Given the description of an element on the screen output the (x, y) to click on. 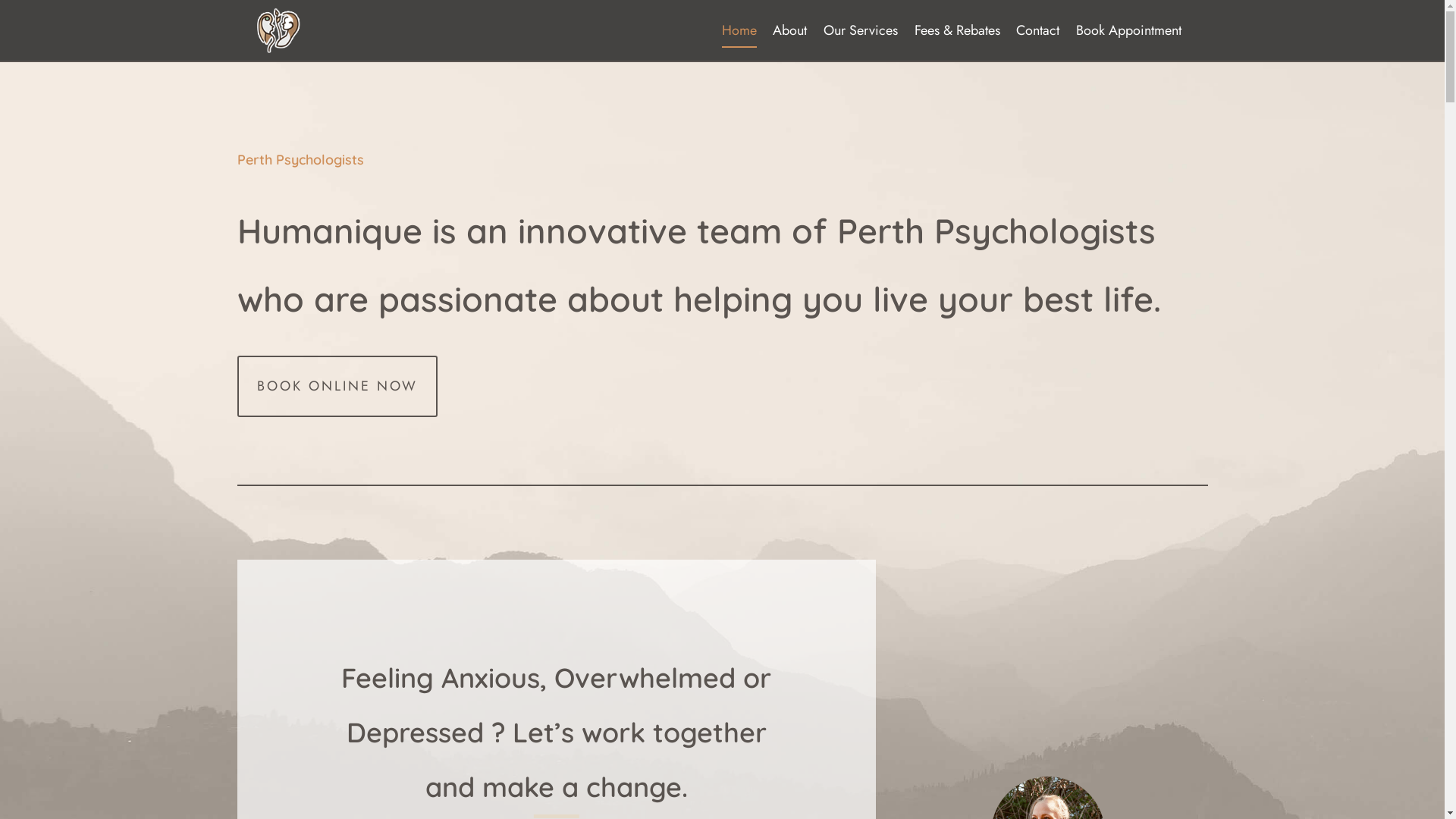
BOOK ONLINE NOW Element type: text (336, 386)
About Element type: text (790, 30)
Book Appointment Element type: text (1128, 30)
Contact Element type: text (1037, 30)
Home Element type: text (739, 30)
Fees & Rebates Element type: text (957, 30)
Our Services Element type: text (860, 30)
